Given the description of an element on the screen output the (x, y) to click on. 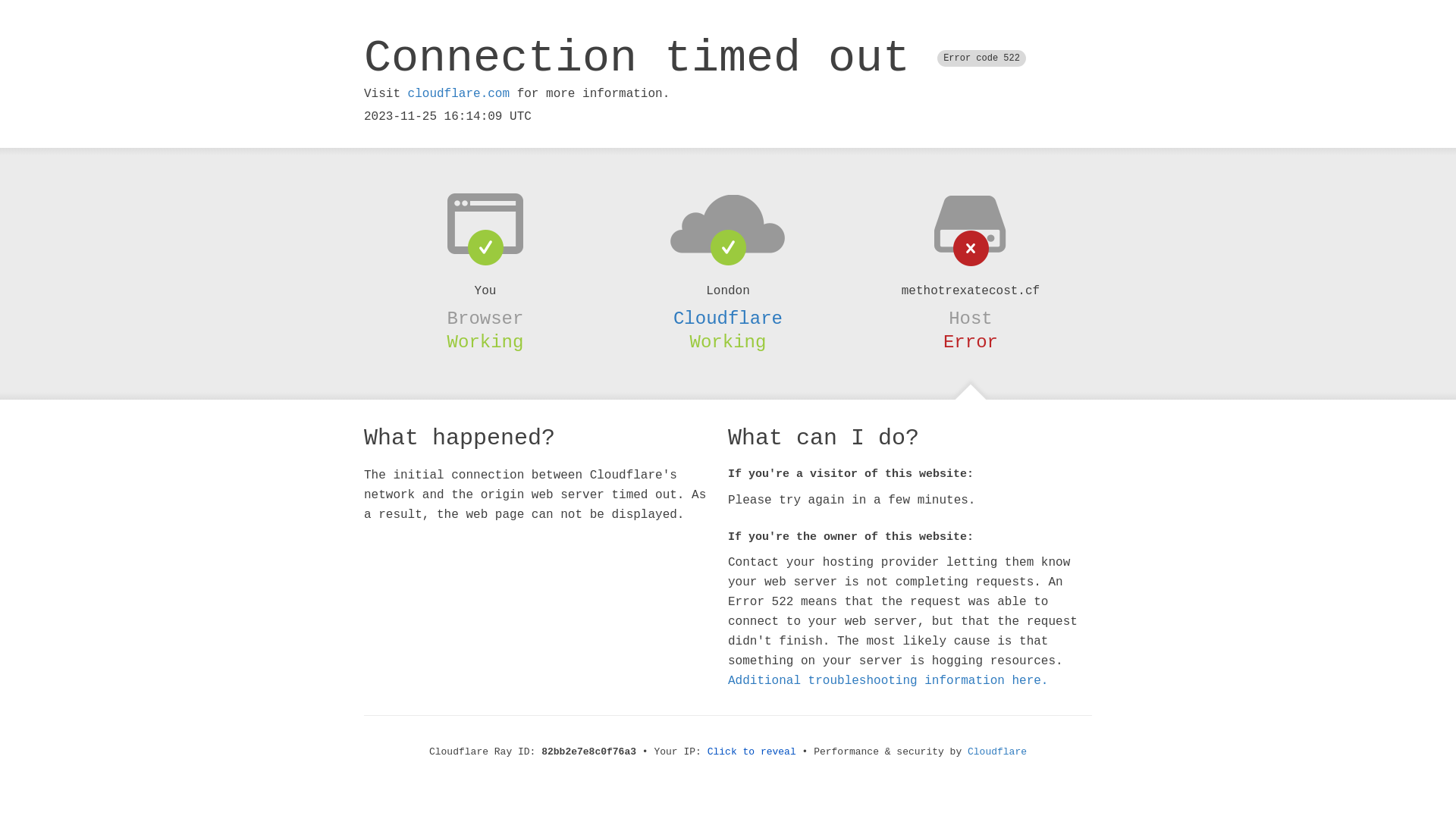
cloudflare.com Element type: text (458, 93)
Cloudflare Element type: text (996, 751)
Cloudflare Element type: text (727, 318)
Additional troubleshooting information here. Element type: text (888, 680)
Click to reveal Element type: text (751, 751)
